Given the description of an element on the screen output the (x, y) to click on. 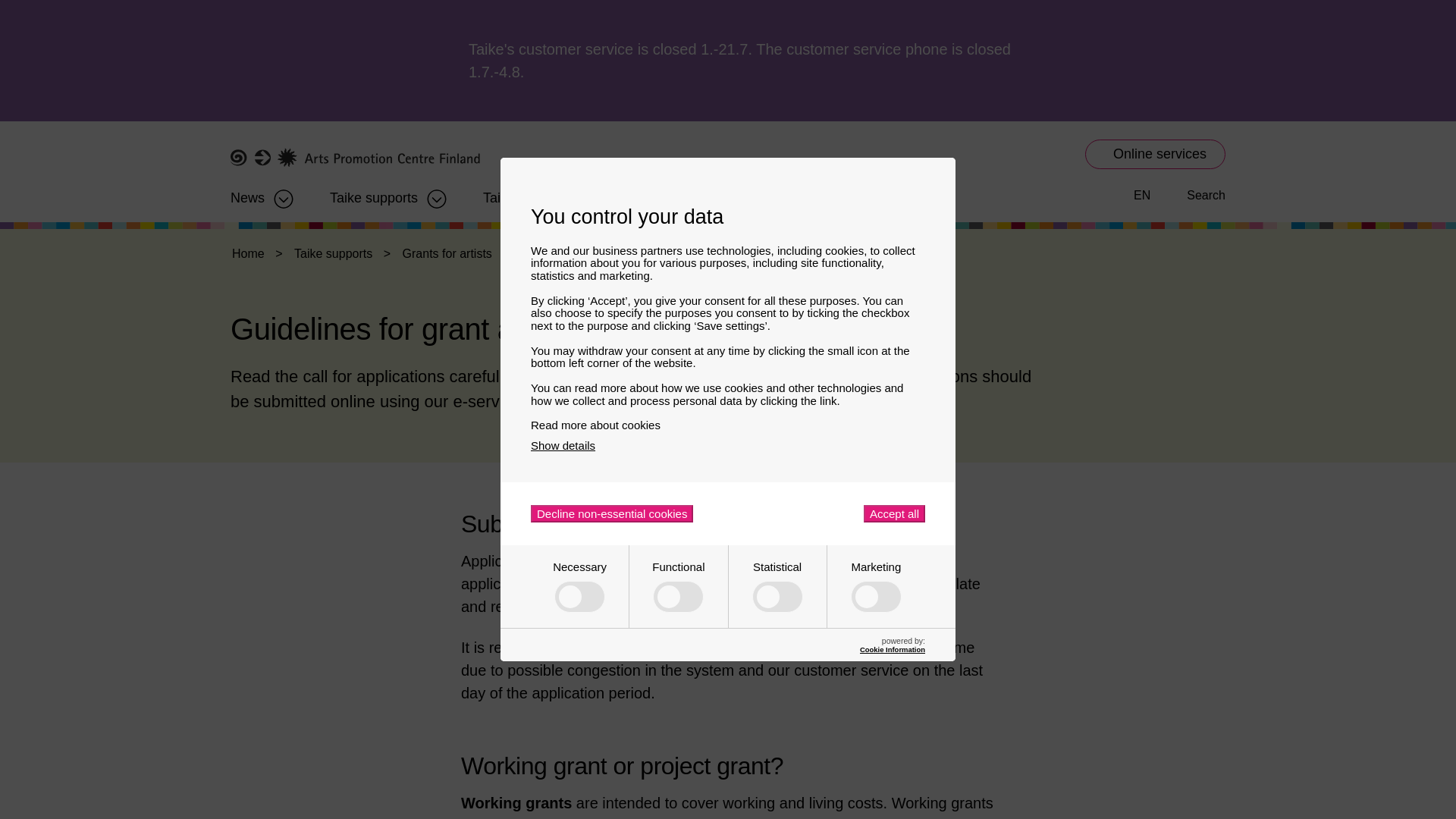
Cookie Information (892, 649)
Decline non-essential cookies (612, 513)
Apurahat ja avustukset (373, 192)
Read more about cookies (727, 424)
Home page (355, 157)
Accept all (893, 513)
Show details (563, 445)
